Given the description of an element on the screen output the (x, y) to click on. 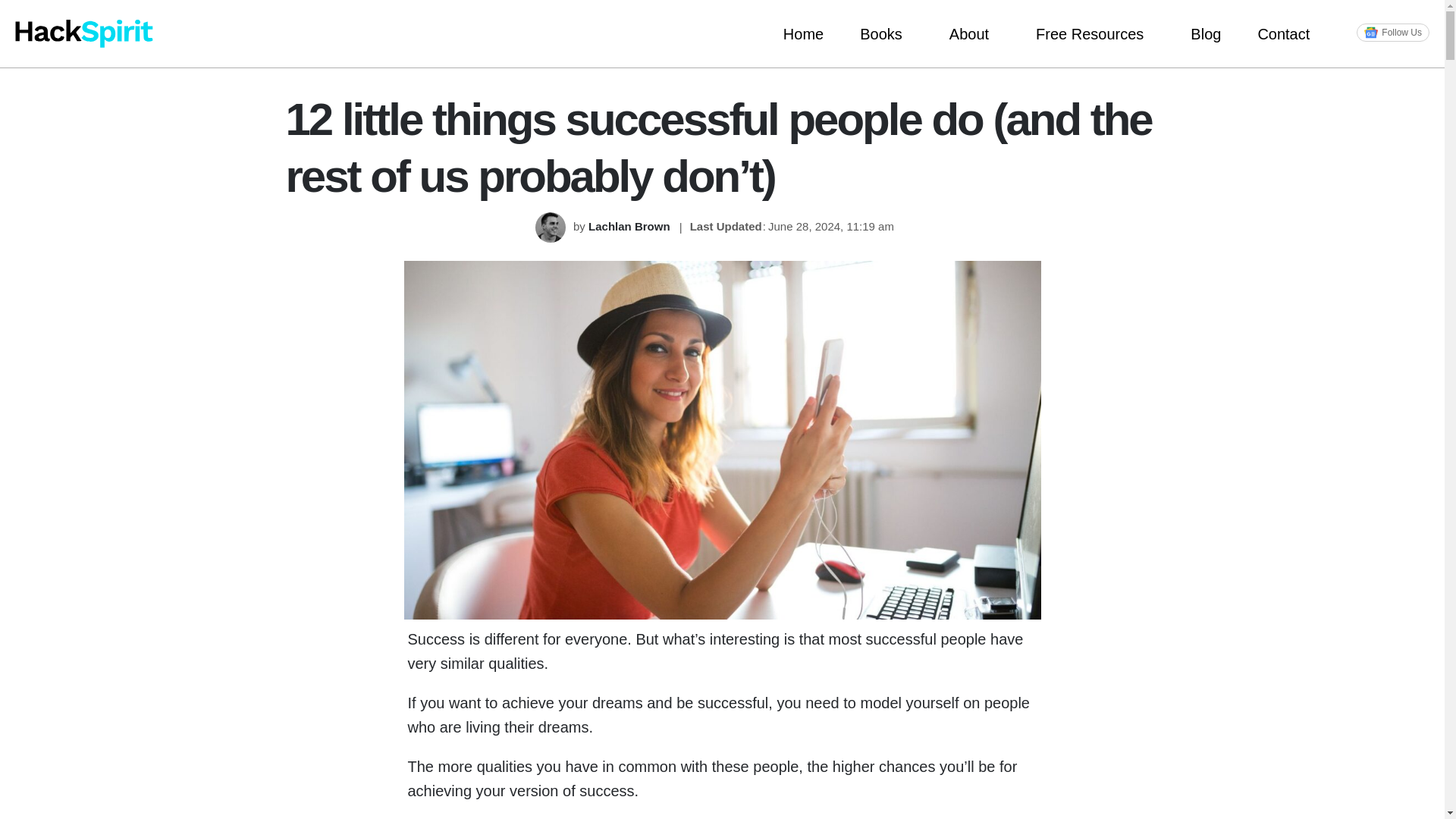
Books (886, 33)
Posts by Lachlan Brown (630, 226)
Home (803, 33)
About (974, 33)
Contact (1288, 33)
Free Resources (1094, 33)
Blog (1205, 33)
